Given the description of an element on the screen output the (x, y) to click on. 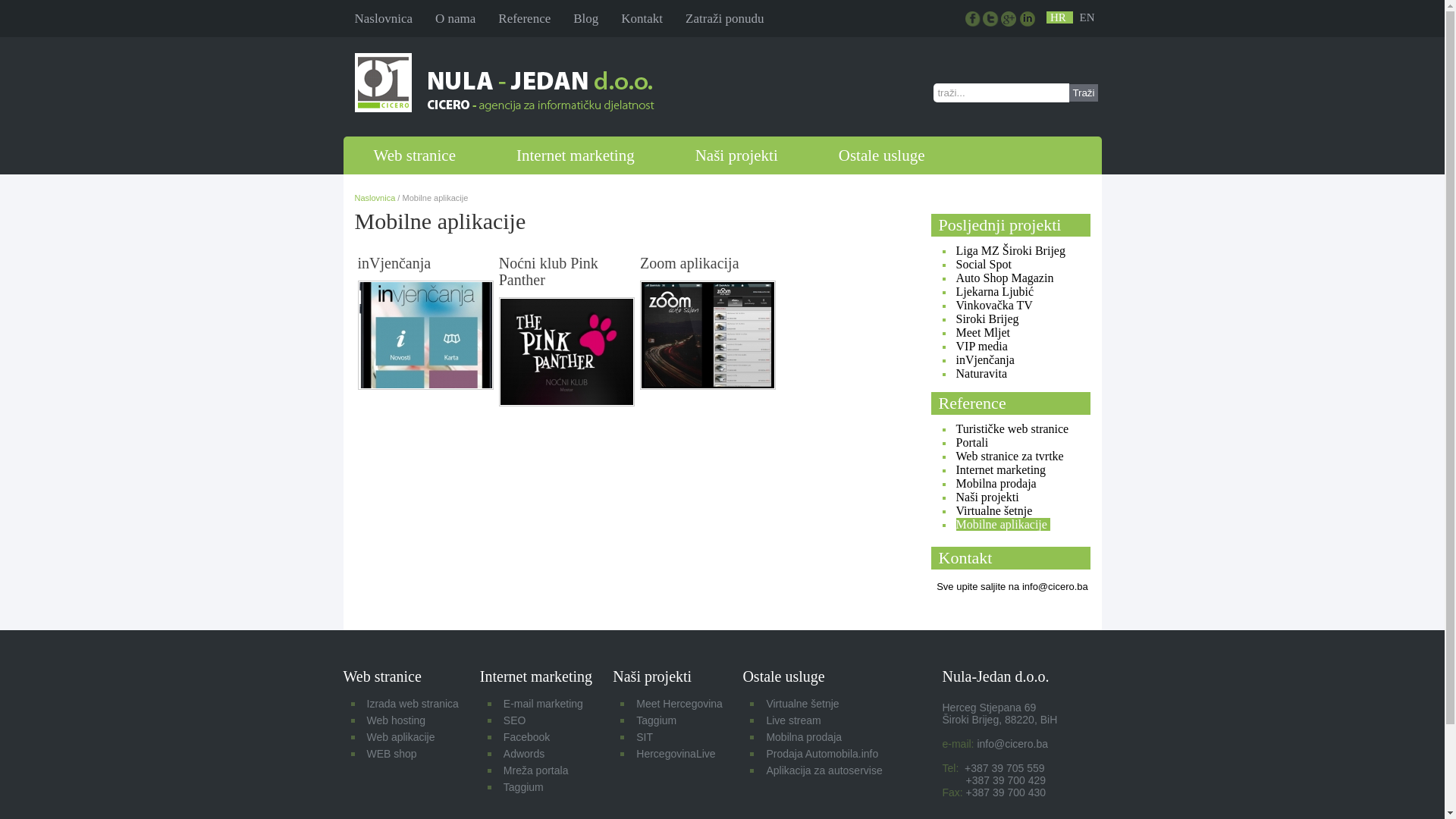
Aplikacija za autoservise Element type: text (823, 770)
E-mail marketing Element type: text (543, 703)
Izrada web stranica Element type: text (412, 703)
Mobilna prodaja Element type: text (996, 482)
Social Spot Element type: text (982, 263)
Mobilna prodaja Element type: text (803, 737)
WEB shop Element type: text (392, 753)
Taggium Element type: text (656, 720)
. Element type: text (973, 19)
Mobilne aplikacije Element type: text (1002, 523)
SIT Element type: text (644, 737)
Auto Shop Magazin Element type: text (1004, 277)
Kontakt Element type: text (641, 18)
Ostale usluge Element type: text (881, 154)
Web stranice za tvrtke Element type: text (1010, 455)
Zoom aplikacija Element type: hover (707, 386)
HR Element type: text (1059, 17)
Web hosting Element type: text (396, 720)
Reference Element type: text (524, 18)
Internet marketing Element type: text (575, 154)
HercegovinaLive Element type: text (675, 753)
Web stranice Element type: text (414, 154)
Internet marketing Element type: text (1001, 469)
. Element type: text (1010, 19)
Naslovnica Element type: text (383, 18)
. Element type: text (1028, 19)
Web aplikacije Element type: text (401, 737)
Meet Mljet Element type: text (982, 332)
Facebook Element type: text (526, 737)
SEO Element type: text (514, 720)
VIP media Element type: text (981, 345)
Siroki Brijeg Element type: text (986, 318)
Live stream Element type: text (792, 720)
EN Element type: text (1086, 17)
Prodaja Automobila.info Element type: text (821, 753)
Blog Element type: text (585, 18)
Naslovnica Element type: text (374, 197)
Taggium Element type: text (523, 787)
Meet Hercegovina Element type: text (679, 703)
Naturavita Element type: text (981, 373)
. Element type: text (991, 19)
O nama Element type: text (455, 18)
info@cicero.ba Element type: text (1012, 743)
Adwords Element type: text (523, 753)
Portali Element type: text (973, 442)
